Given the description of an element on the screen output the (x, y) to click on. 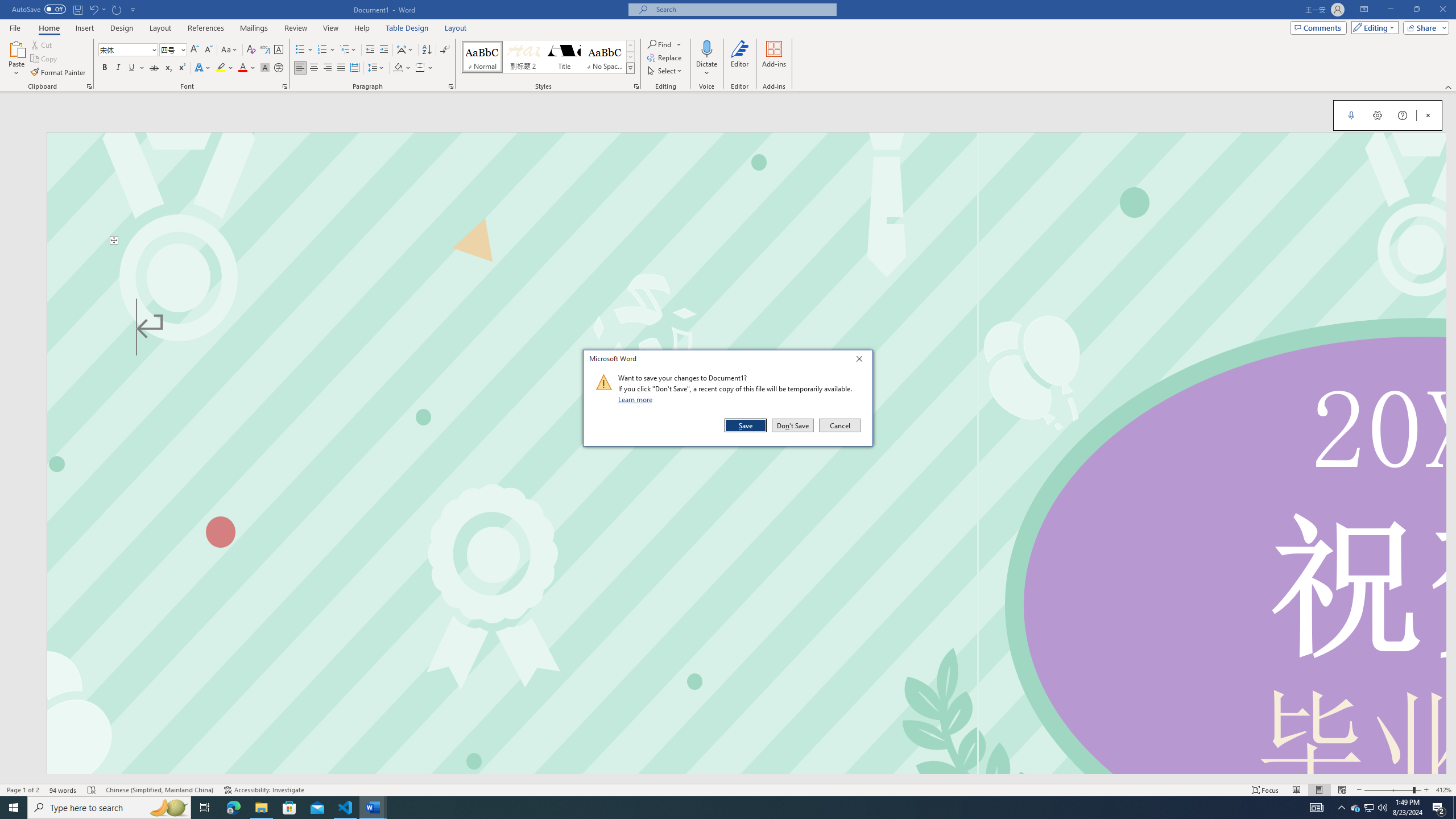
Word - 2 running windows (373, 807)
Q2790: 100% (1382, 807)
Select (665, 69)
Close Dictation (1428, 115)
Cancel (839, 425)
AutomationID: 4105 (1316, 807)
